Given the description of an element on the screen output the (x, y) to click on. 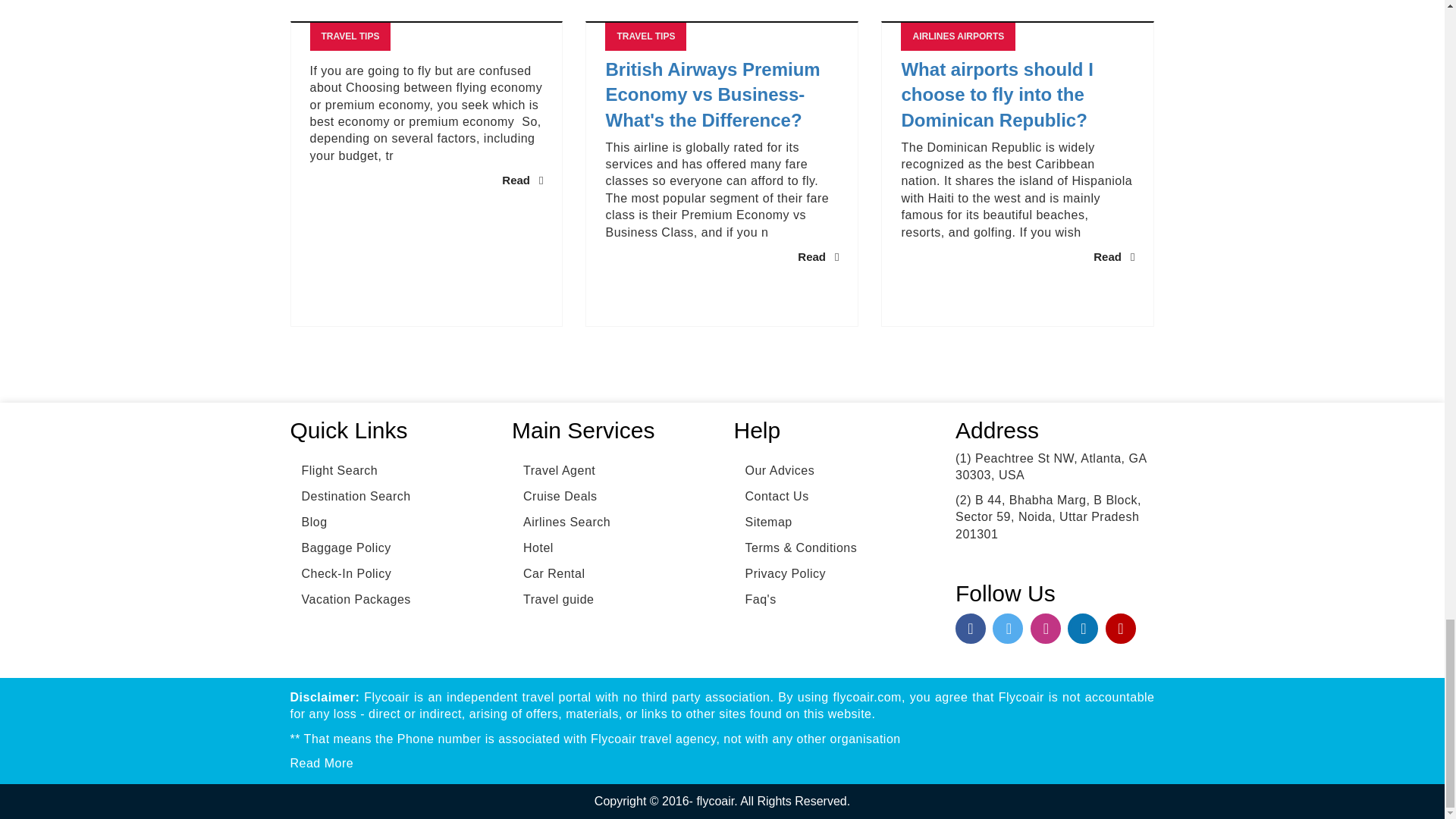
Read (1113, 256)
Read (817, 256)
Destination Search (349, 496)
Flight Search (333, 470)
Read (522, 179)
